Given the description of an element on the screen output the (x, y) to click on. 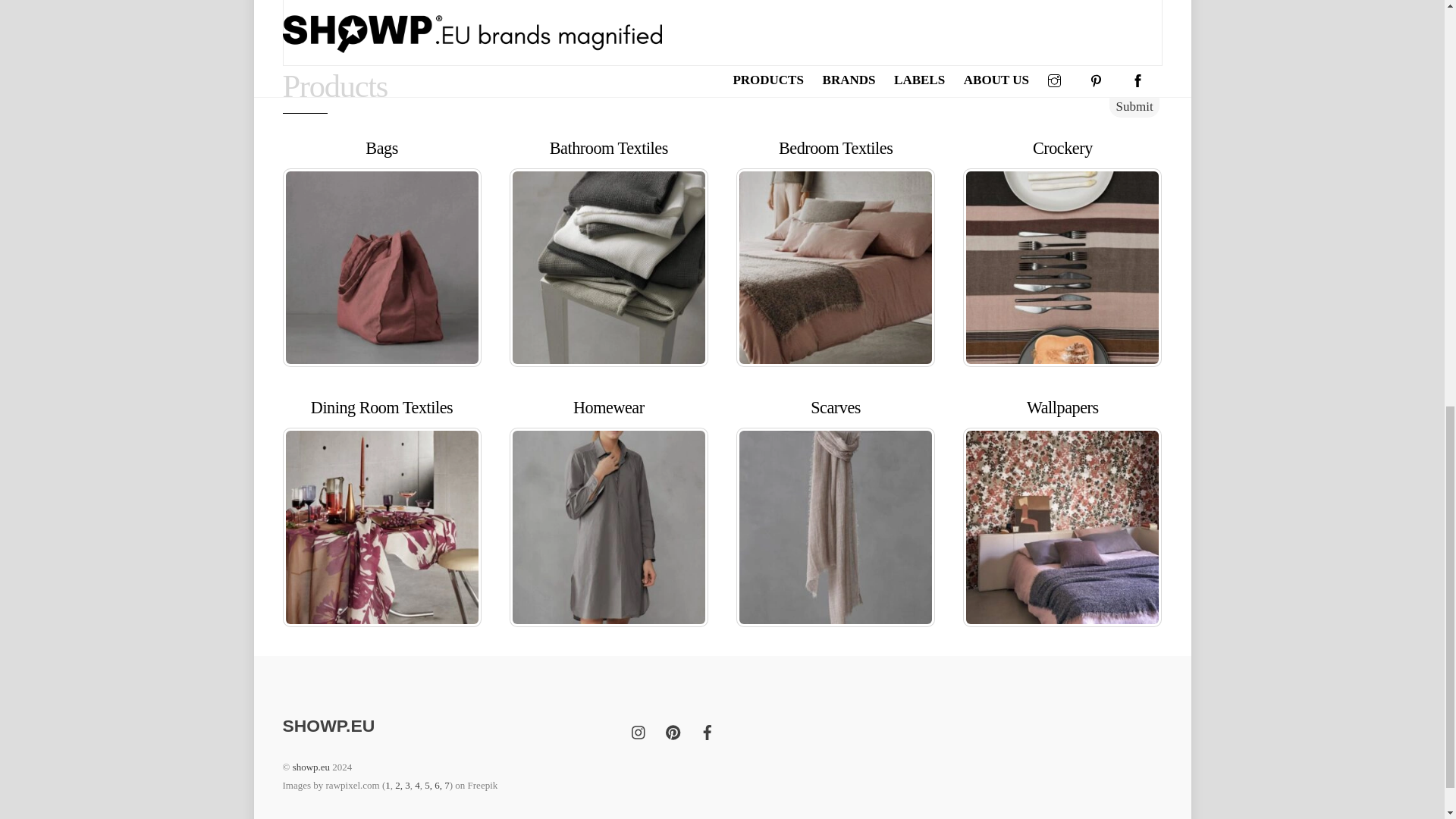
Dinnin Room Textiles (381, 526)
Bathroom Textiles (608, 267)
Bathroom Textiles (609, 148)
SHOWP.EU (328, 725)
Bags (381, 267)
Dining Room Textiles (381, 407)
Homewear (608, 526)
Crockery (1062, 148)
Scarves (835, 526)
showp.eu (328, 725)
Crockery (1061, 267)
Wallpapers (1062, 407)
Wallpapers (1061, 526)
Homewear (609, 407)
Bedroom Textiles (835, 267)
